Given the description of an element on the screen output the (x, y) to click on. 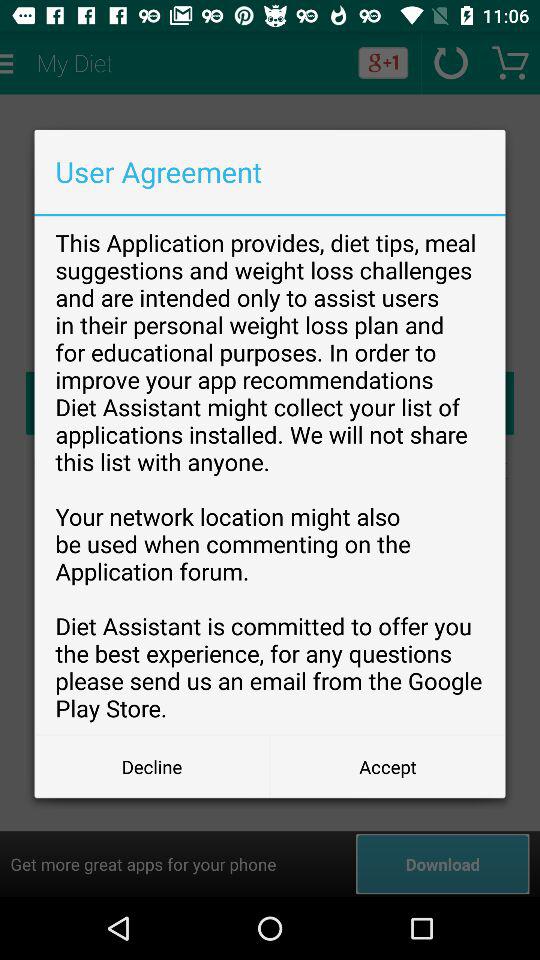
choose button at the bottom right corner (387, 766)
